Given the description of an element on the screen output the (x, y) to click on. 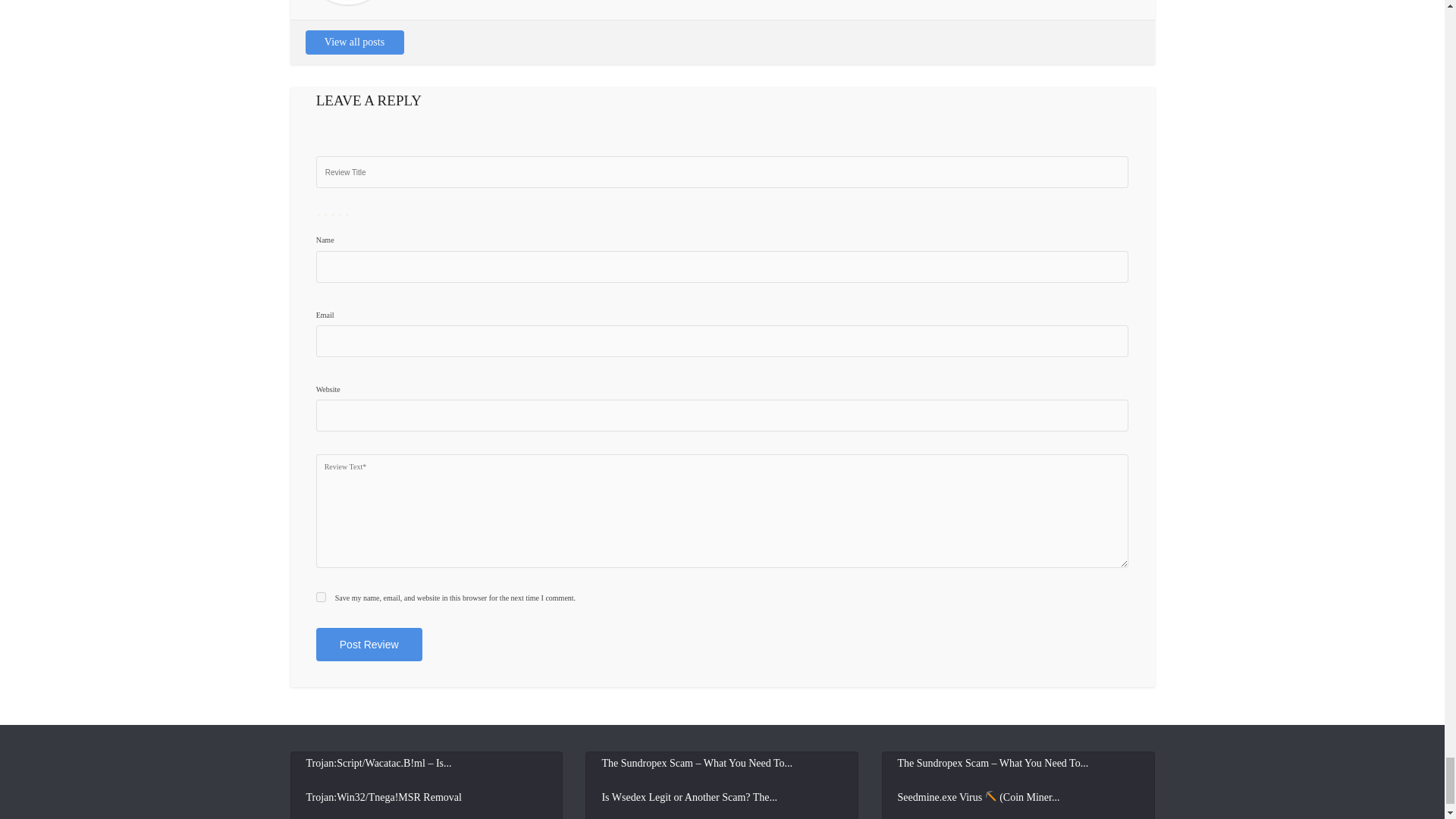
yes (320, 596)
Post Review (368, 644)
